Given the description of an element on the screen output the (x, y) to click on. 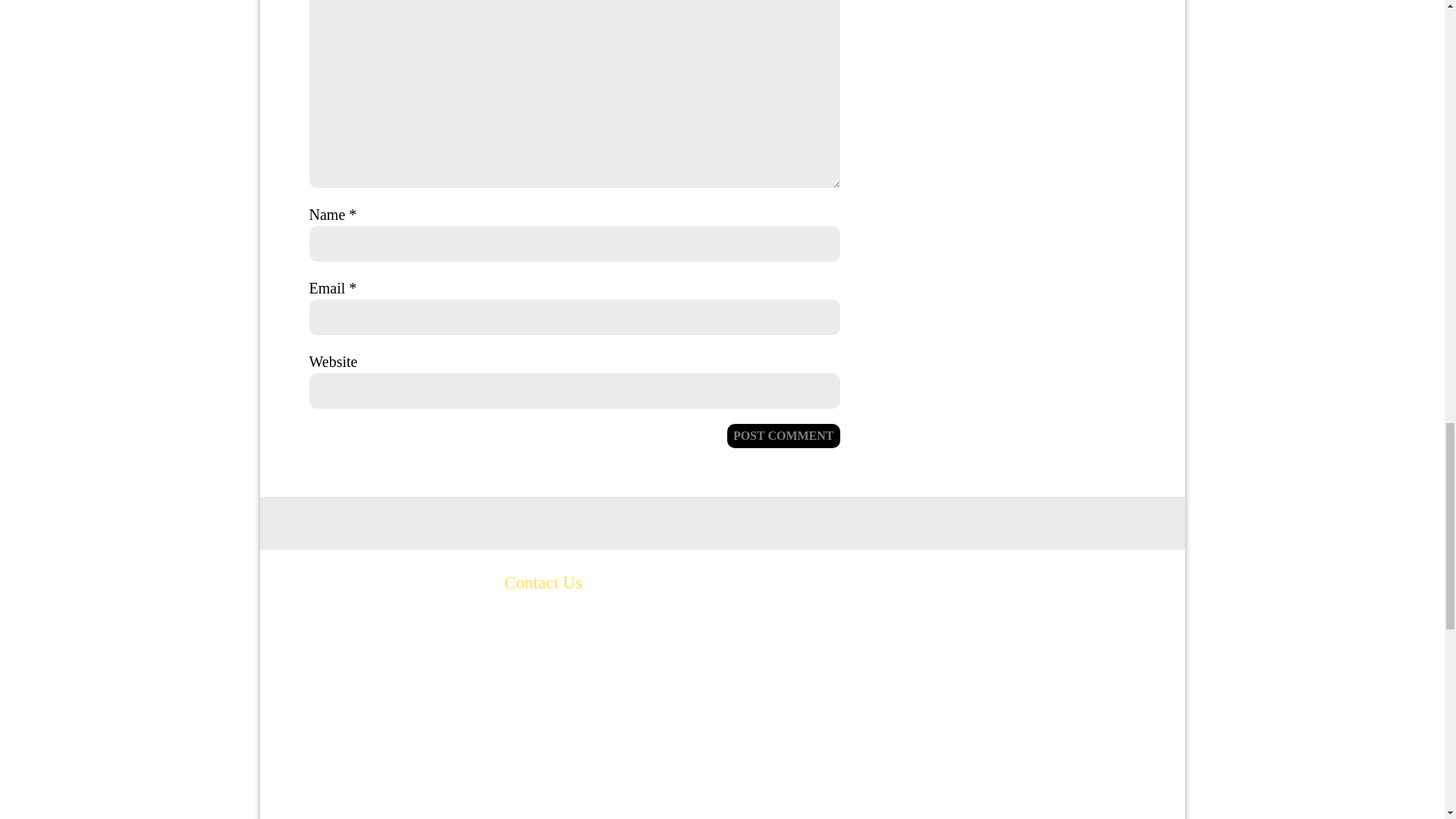
Post Comment (783, 435)
